Given the description of an element on the screen output the (x, y) to click on. 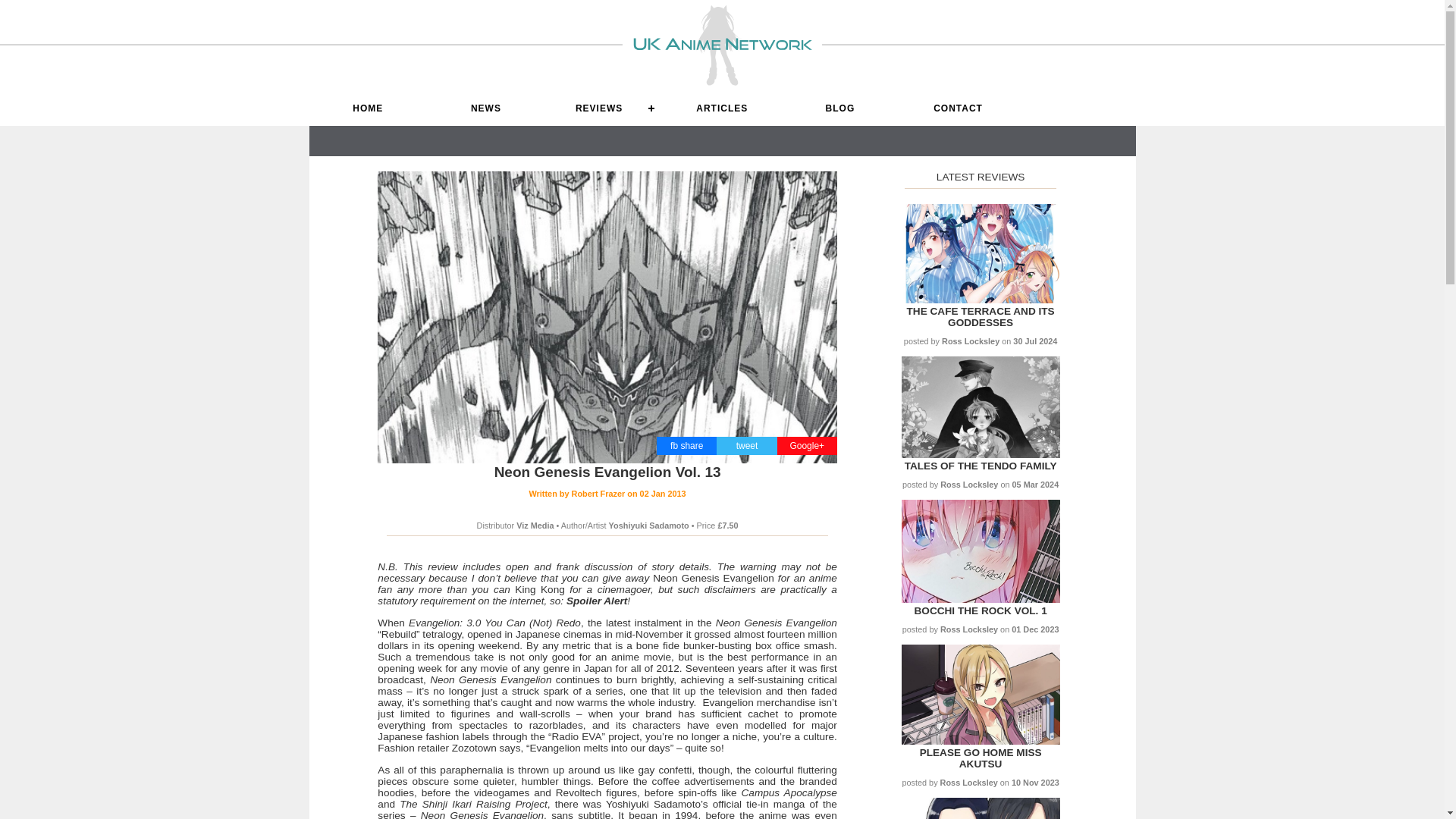
Tales of the Tendo Family (980, 465)
NEWS (485, 108)
PLEASE GO HOME MISS AKUTSU (981, 757)
Bocchi The Rock Vol. 1 (980, 599)
HOME (368, 108)
Please Go Home Miss Akutsu (980, 740)
tweet (747, 445)
The Cafe Terrace and its Goddesses (980, 299)
Please Go Home Miss Akutsu (981, 757)
ARTICLES (721, 108)
